Given the description of an element on the screen output the (x, y) to click on. 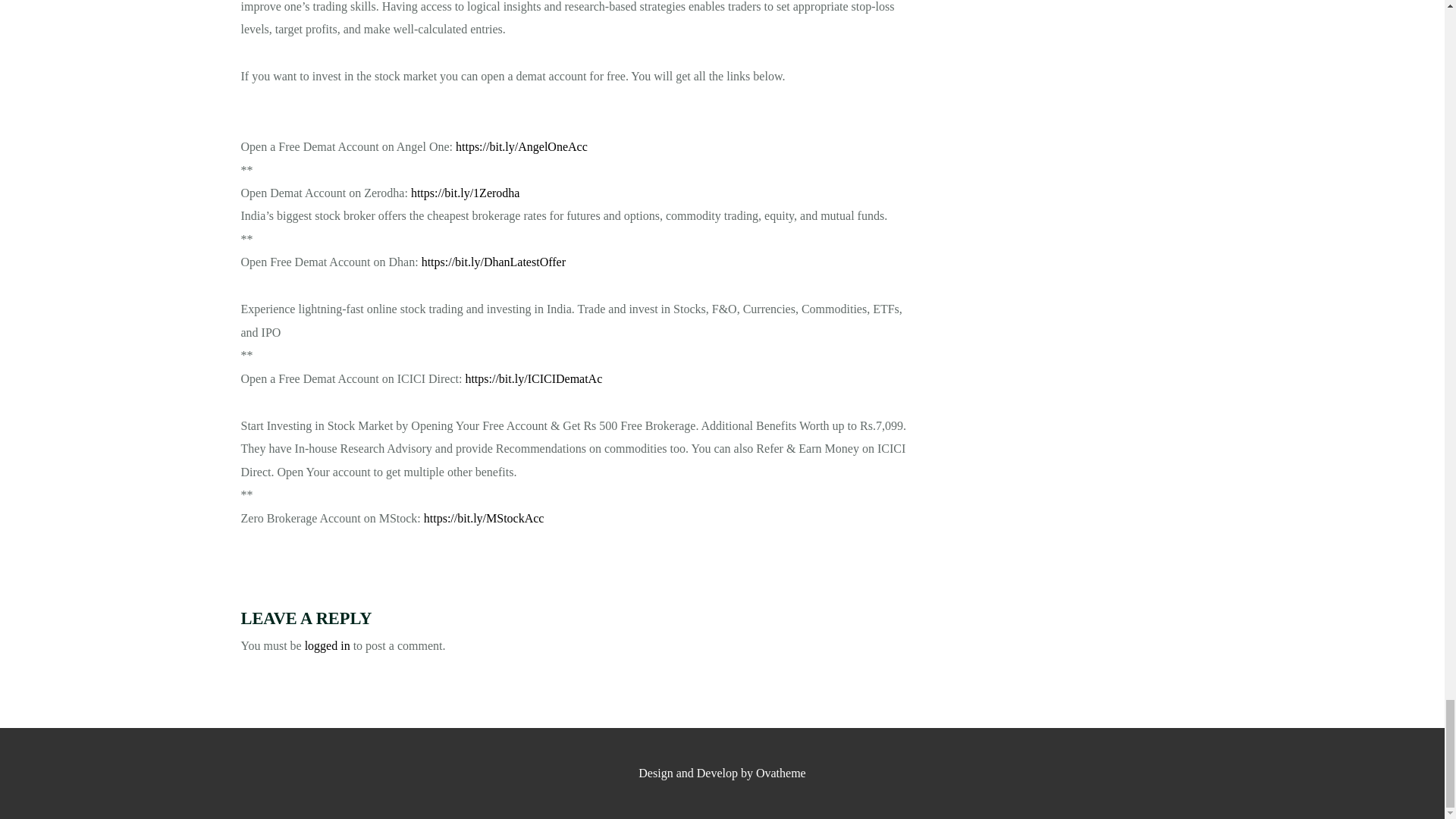
logged in (327, 645)
